Given the description of an element on the screen output the (x, y) to click on. 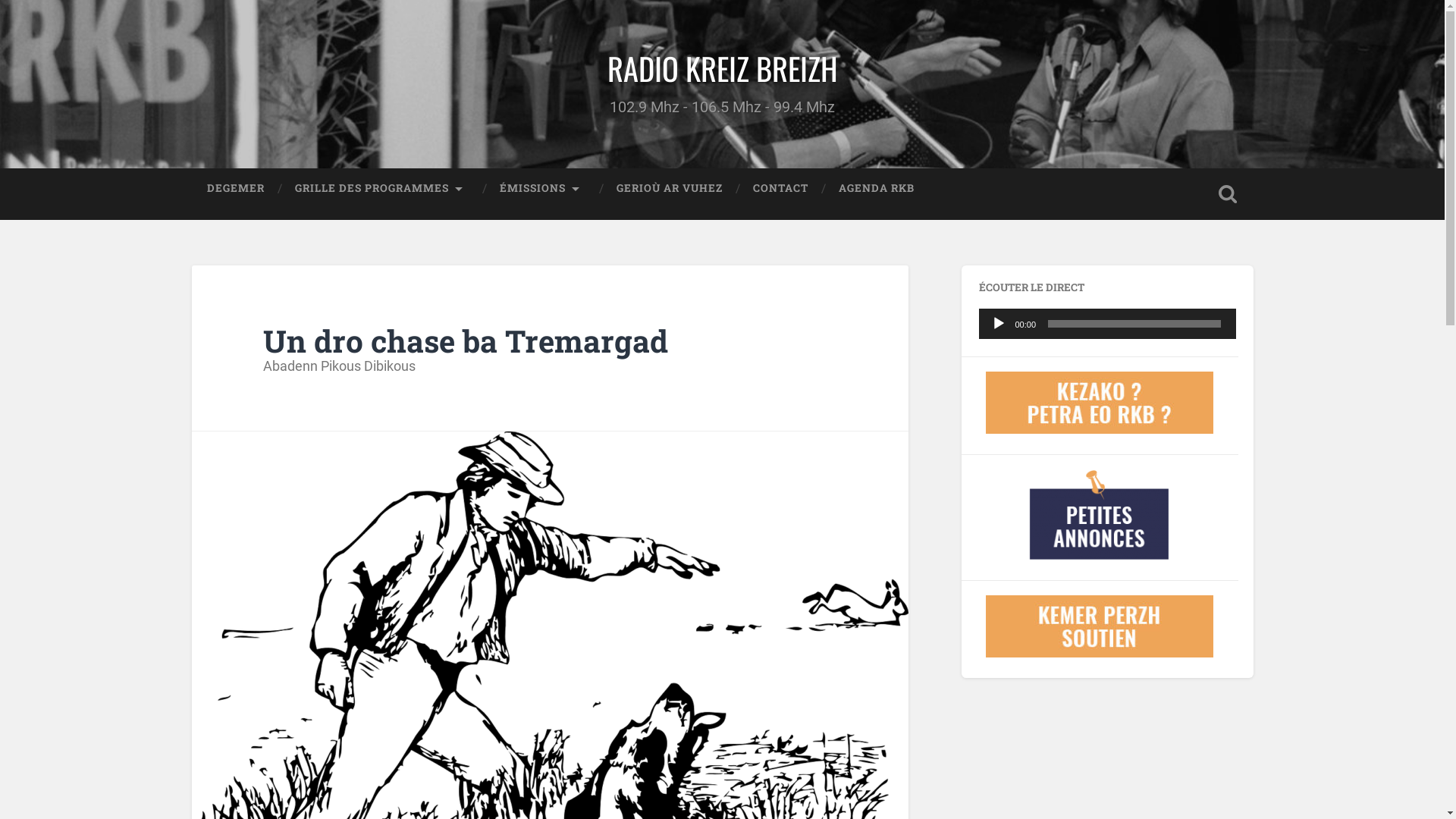
AGENDA RKB Element type: text (876, 188)
Lecture Element type: hover (997, 323)
CONTACT Element type: text (779, 188)
GRILLE DES PROGRAMMES Element type: text (381, 188)
RADIO KREIZ BREIZH Element type: text (721, 68)
Abadenn Pikous Dibikous Element type: text (339, 365)
Un dro chase ba Tremargad Element type: text (465, 340)
DEGEMER Element type: text (235, 188)
